Given the description of an element on the screen output the (x, y) to click on. 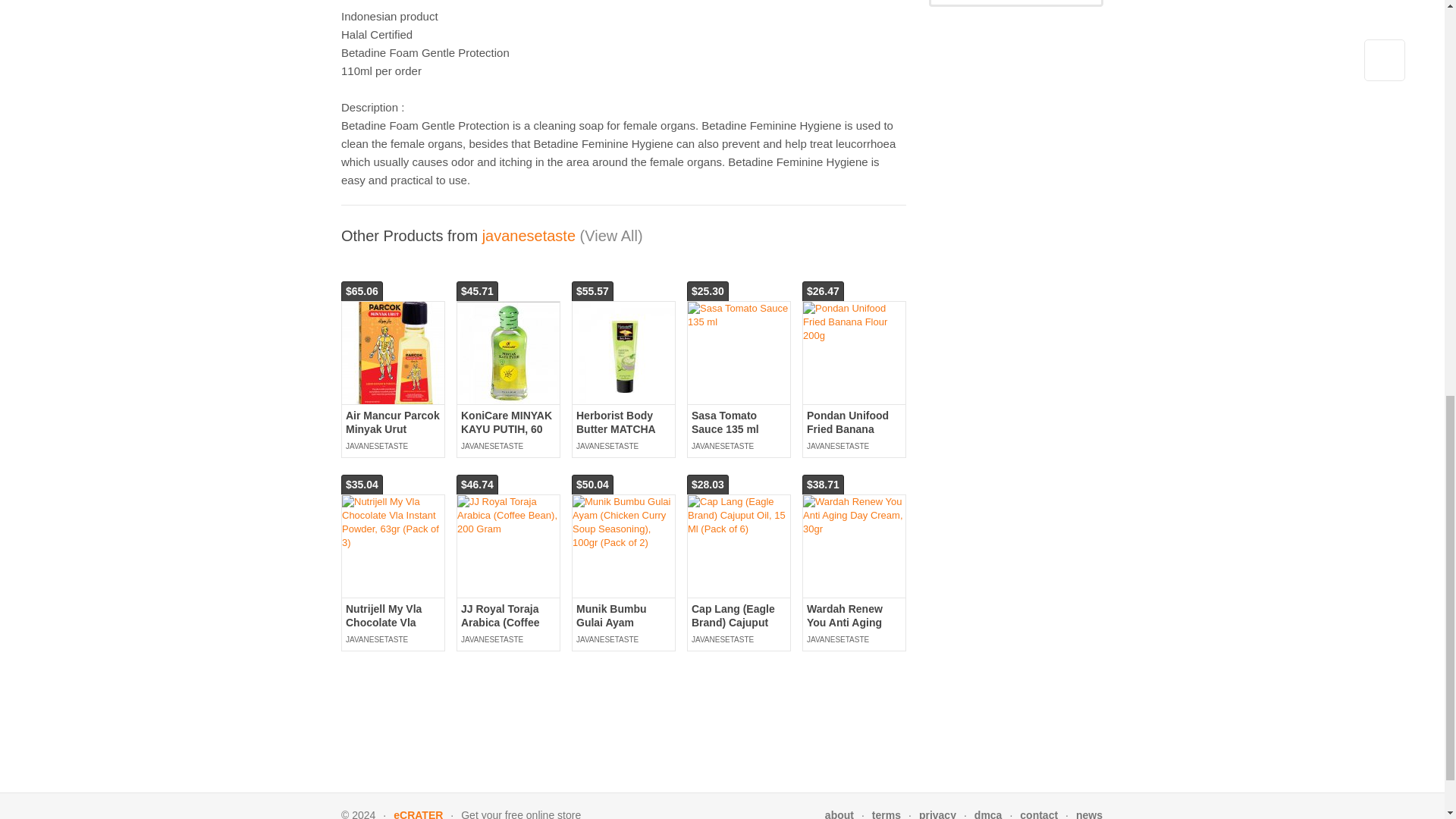
Pondan Unifood Fried Banana Flour 200g (854, 322)
Sasa Tomato Sauce 135 ml (724, 421)
Pondan Unifood Fried Banana Flour 200g (847, 428)
Sasa Tomato Sauce 135 ml (738, 315)
